Given the description of an element on the screen output the (x, y) to click on. 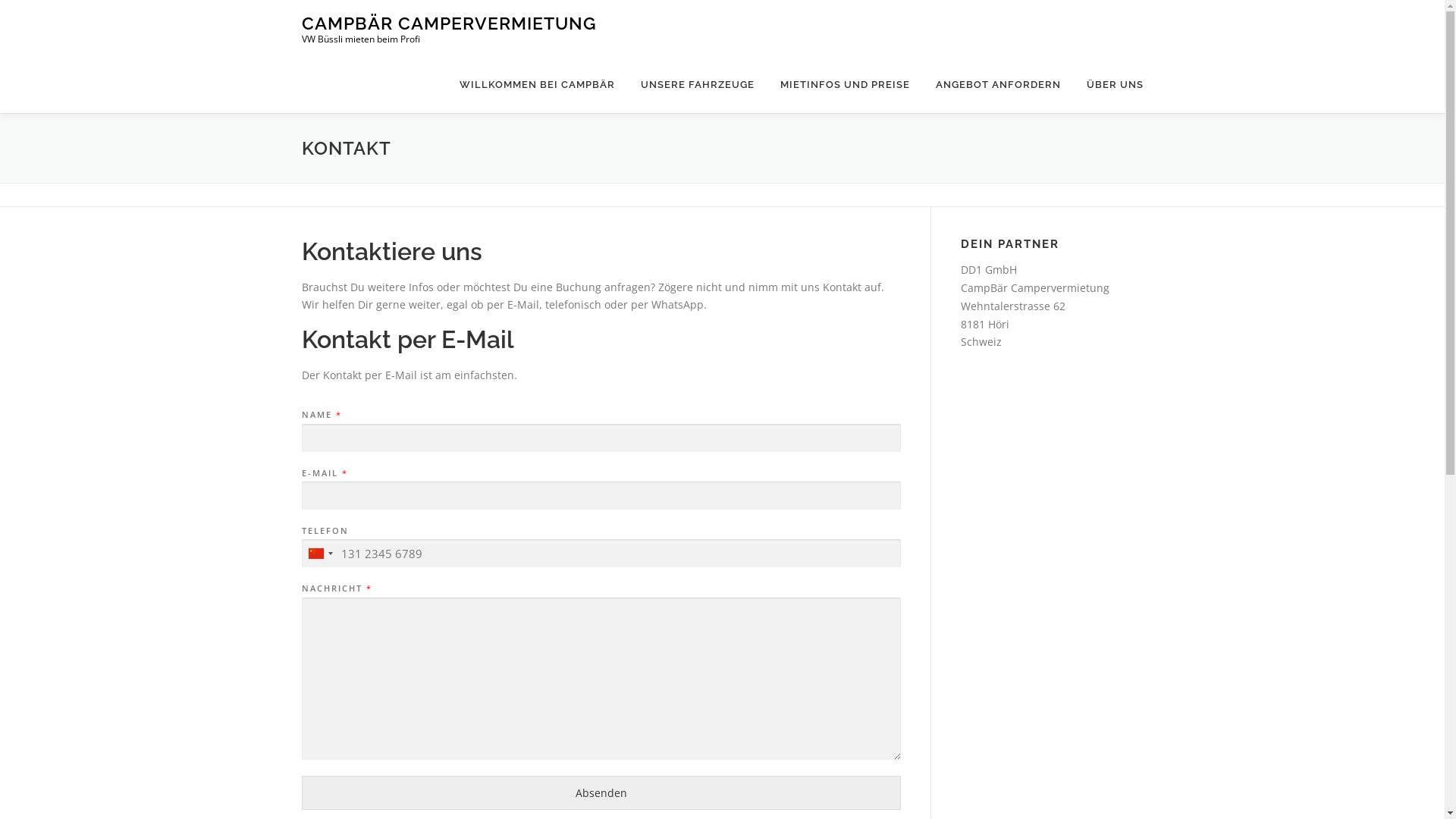
Absenden Element type: text (600, 792)
ANGEBOT ANFORDERN Element type: text (997, 84)
UNSERE FAHRZEUGE Element type: text (697, 84)
MIETINFOS UND PREISE Element type: text (844, 84)
